Given the description of an element on the screen output the (x, y) to click on. 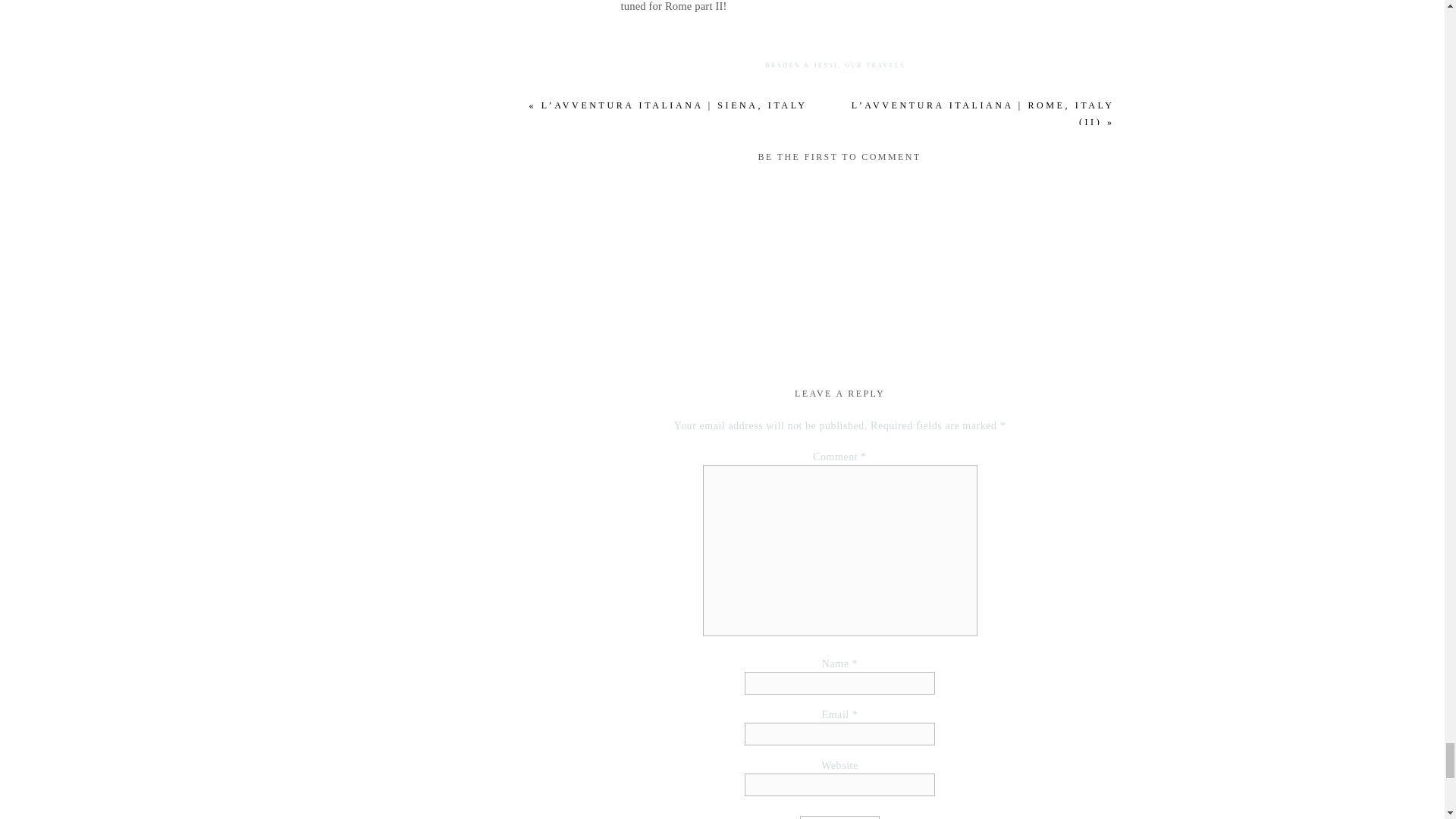
OUR TRAVELS (874, 65)
Post Comment (839, 817)
Post Comment (839, 817)
BE THE FIRST TO COMMENT (838, 156)
